Given the description of an element on the screen output the (x, y) to click on. 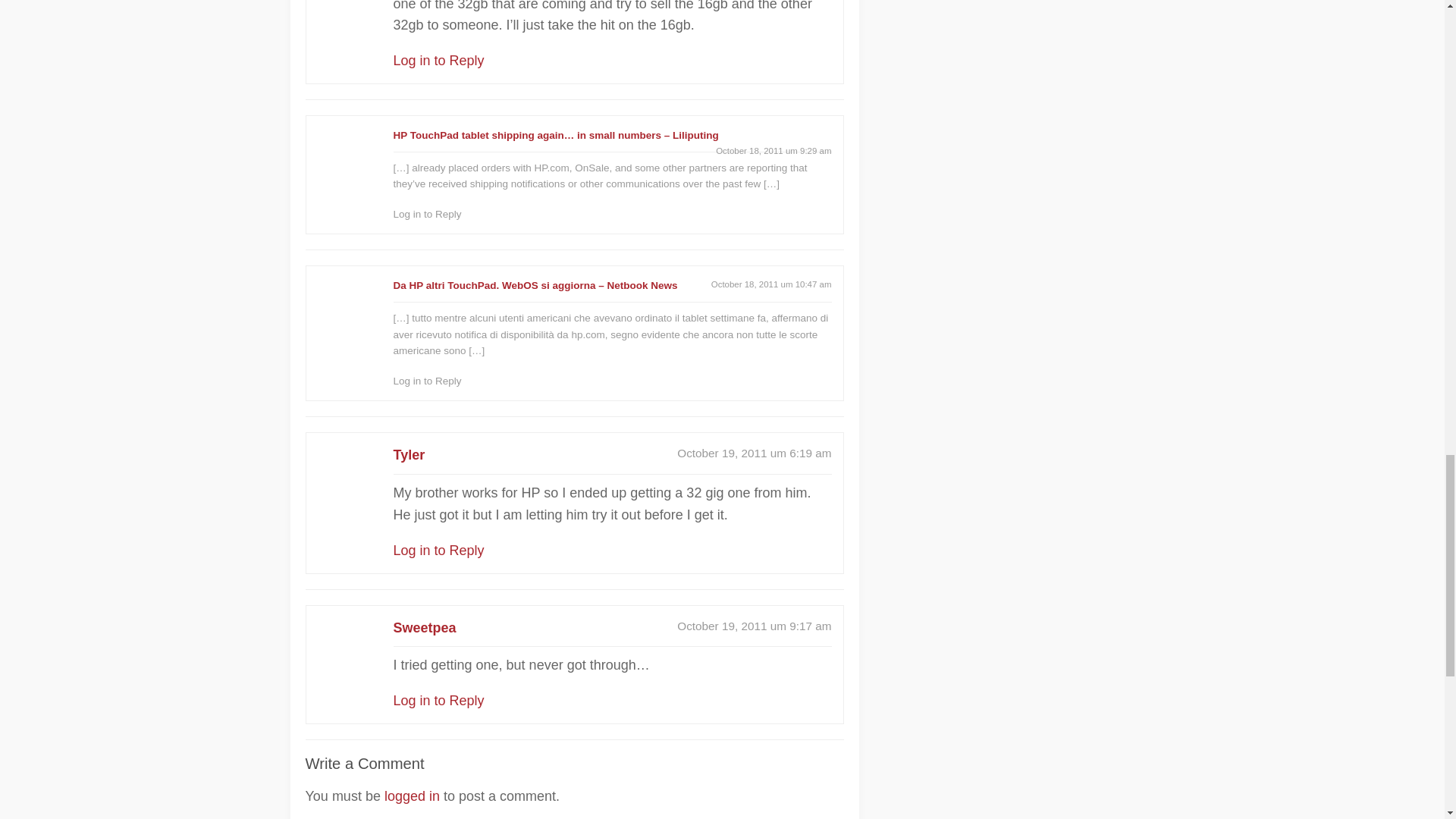
Log in to Reply (438, 549)
Log in to Reply (438, 60)
Log in to Reply (438, 700)
logged in (411, 795)
Log in to Reply (427, 380)
Log in to Reply (427, 214)
